Given the description of an element on the screen output the (x, y) to click on. 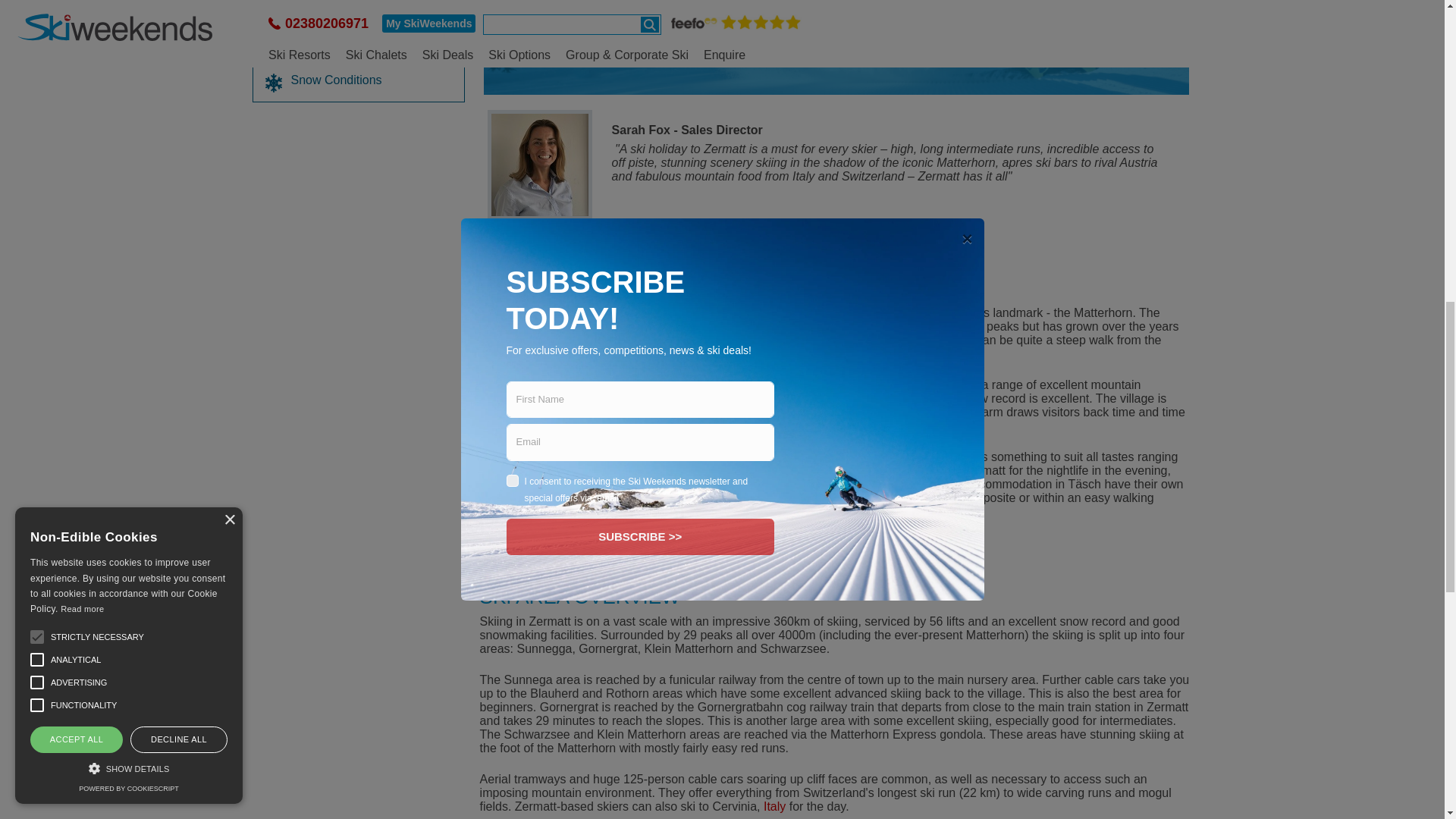
Italy ski information  (774, 806)
Book with our expert sales team at Skiweekends (539, 164)
Switzerland ski information  (876, 312)
